Given the description of an element on the screen output the (x, y) to click on. 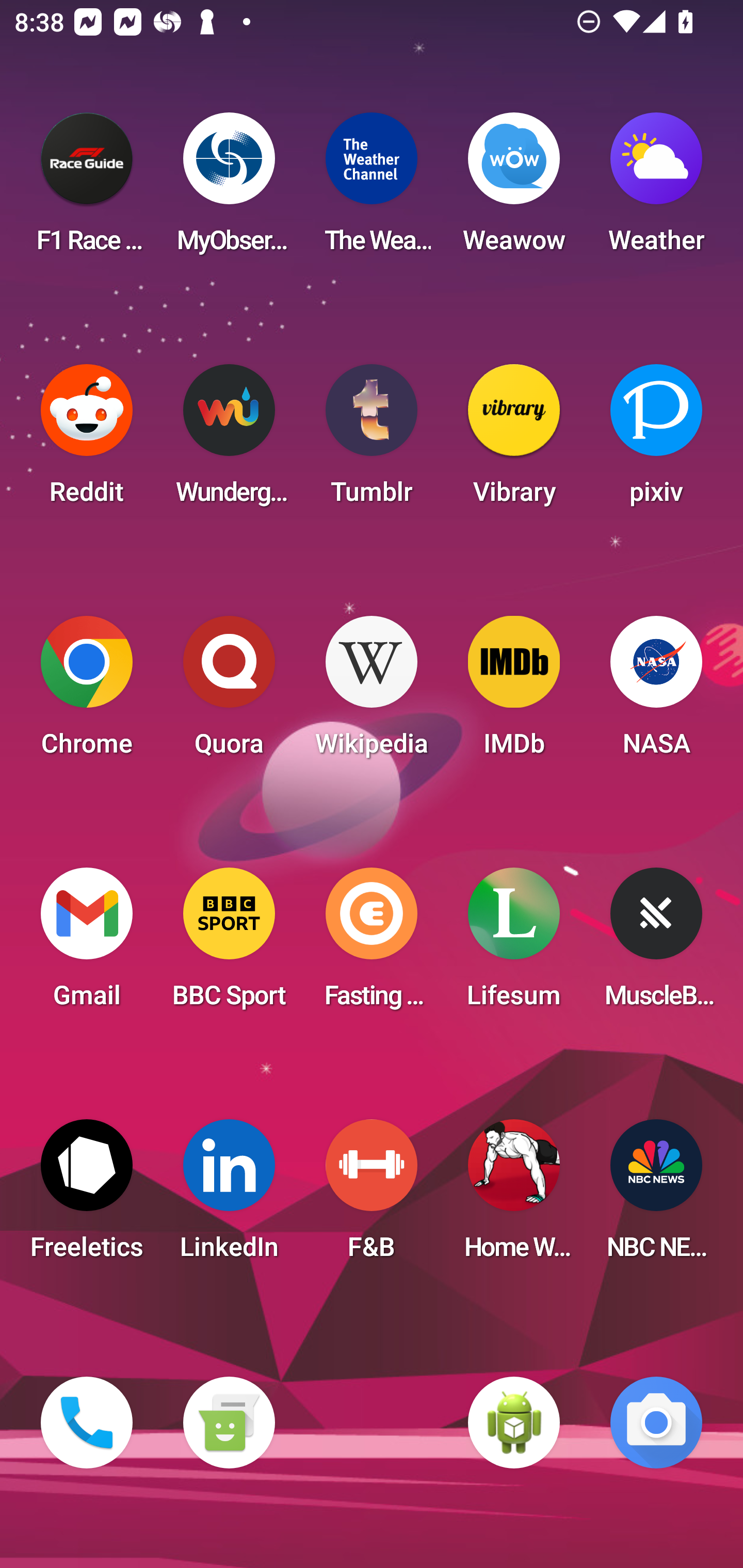
F1 Race Guide (86, 188)
MyObservatory (228, 188)
The Weather Channel (371, 188)
Weawow (513, 188)
Weather (656, 188)
Reddit (86, 440)
Wunderground (228, 440)
Tumblr (371, 440)
Vibrary (513, 440)
pixiv (656, 440)
Chrome (86, 692)
Quora (228, 692)
Wikipedia (371, 692)
IMDb (513, 692)
NASA (656, 692)
Gmail (86, 943)
BBC Sport (228, 943)
Fasting Coach (371, 943)
Lifesum (513, 943)
MuscleBooster (656, 943)
Freeletics (86, 1195)
LinkedIn (228, 1195)
F&B (371, 1195)
Home Workout (513, 1195)
NBC NEWS (656, 1195)
Phone (86, 1422)
Messaging (228, 1422)
WebView Browser Tester (513, 1422)
Camera (656, 1422)
